Given the description of an element on the screen output the (x, y) to click on. 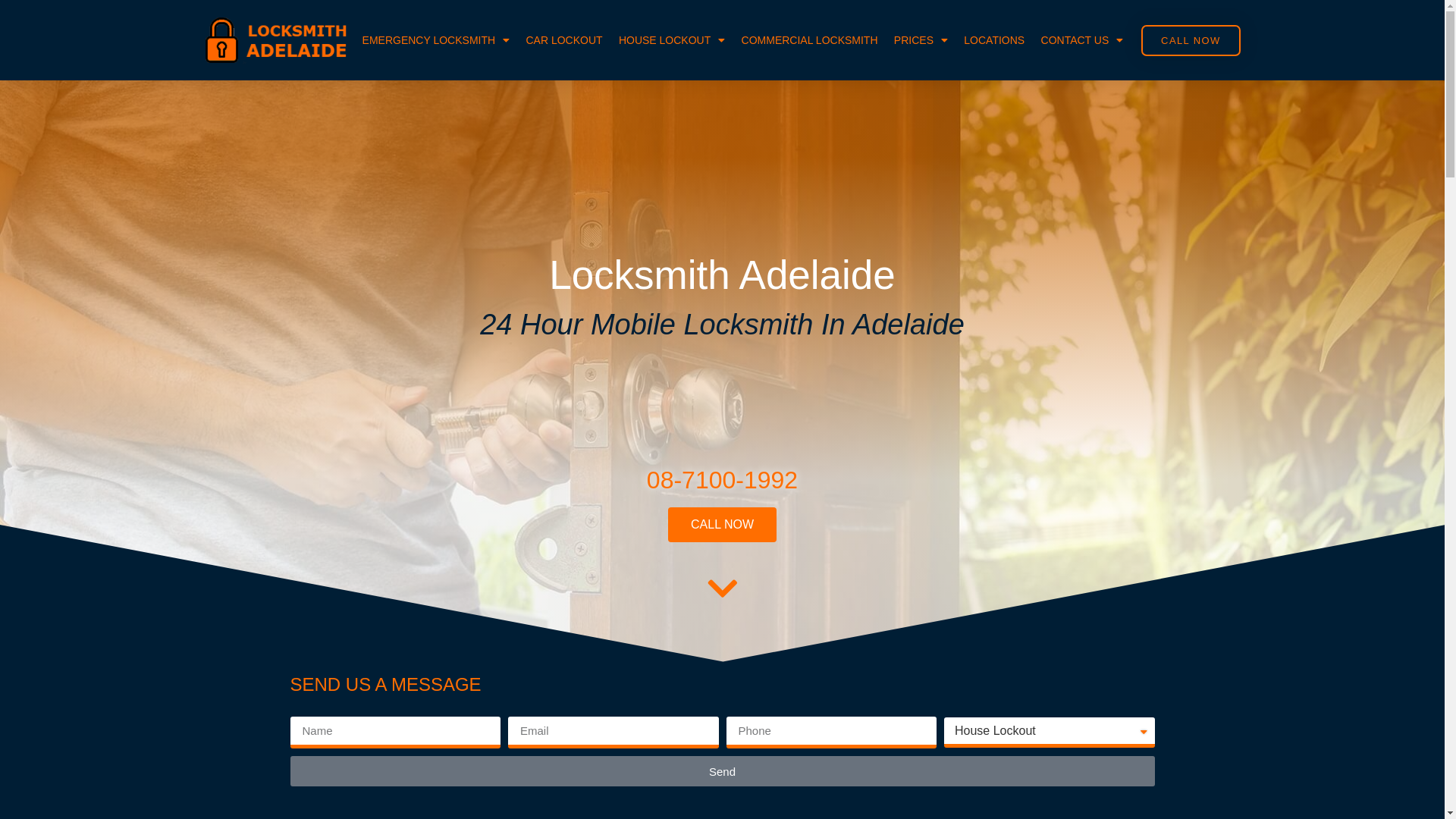
EMERGENCY LOCKSMITH Element type: text (435, 39)
PRICES Element type: text (920, 39)
CAR LOCKOUT Element type: text (563, 39)
HOUSE LOCKOUT Element type: text (671, 39)
Send Element type: text (721, 771)
COMMERCIAL LOCKSMITH Element type: text (809, 39)
CONTACT US Element type: text (1081, 39)
CALL NOW Element type: text (722, 524)
LOCATIONS Element type: text (994, 39)
